Given the description of an element on the screen output the (x, y) to click on. 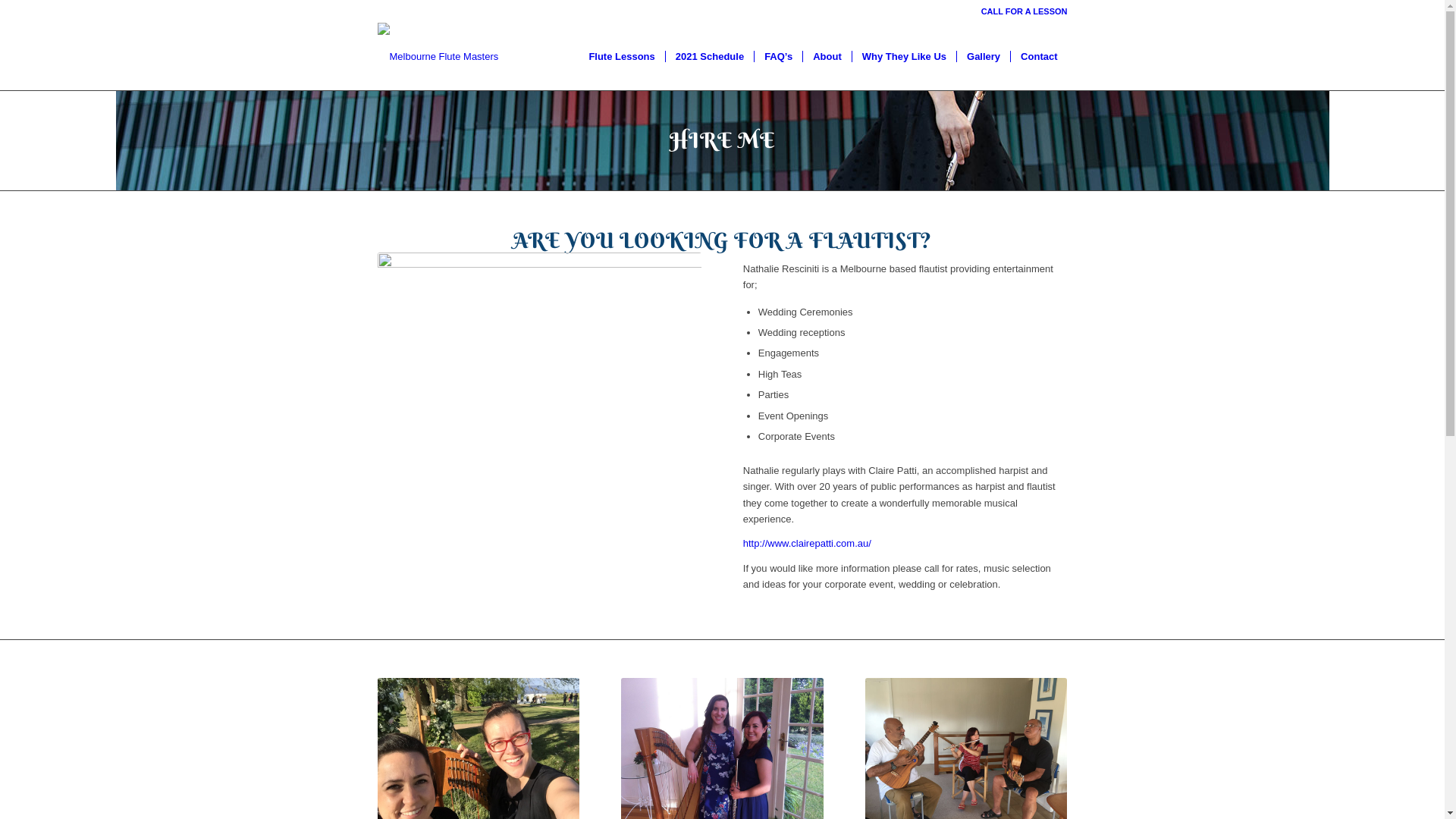
Flute Lessons Element type: text (621, 56)
Gallery Element type: text (983, 56)
http://www.clairepatti.com.au/ Element type: text (807, 543)
Solo flute at outdoor wedding in Japan Element type: hover (539, 410)
Contact Element type: text (1038, 56)
Why They Like Us Element type: text (903, 56)
About Element type: text (826, 56)
CALL FOR A LESSON Element type: text (1024, 10)
2021 Schedule Element type: text (709, 56)
